Given the description of an element on the screen output the (x, y) to click on. 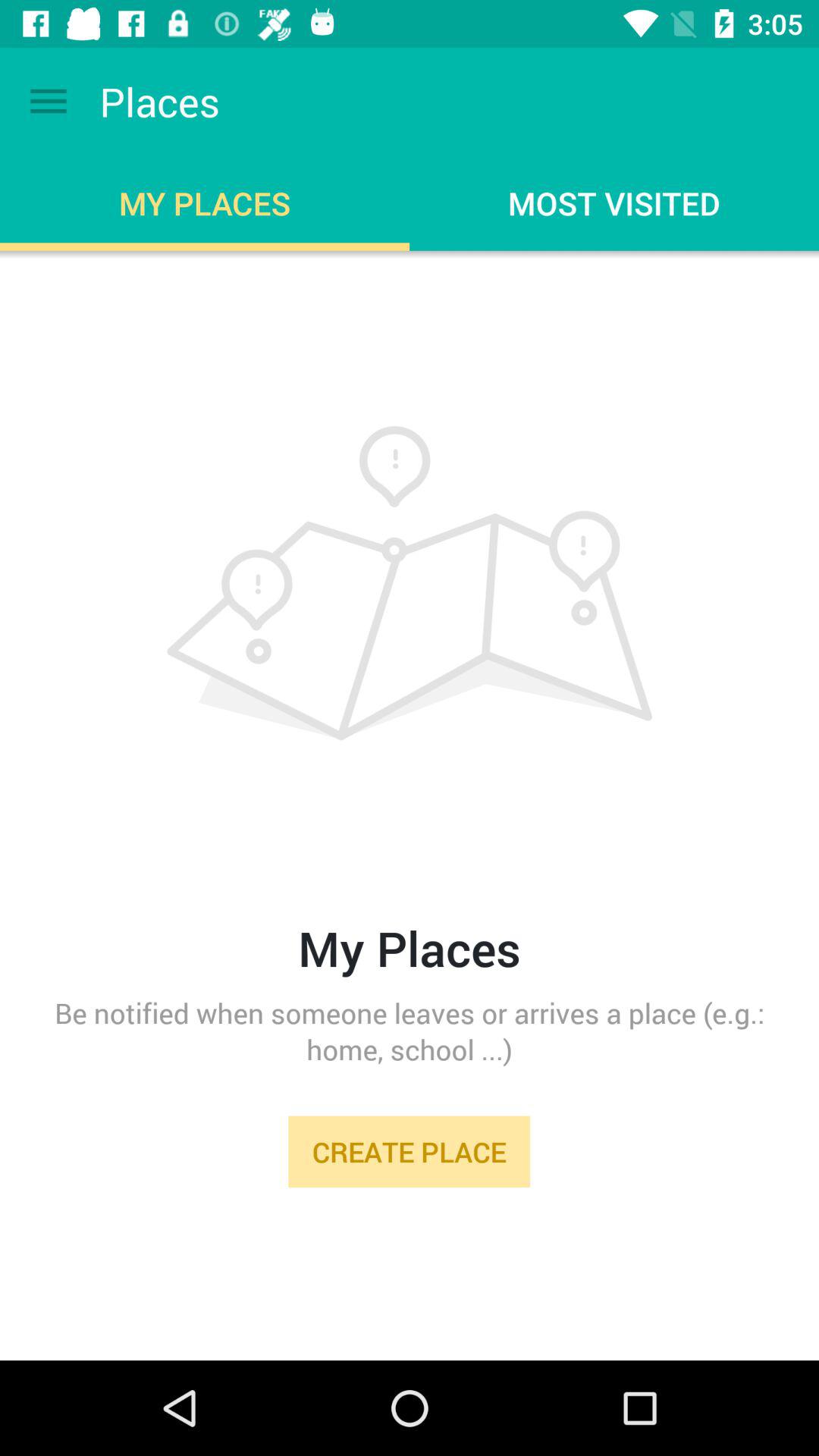
jump to the create place (409, 1151)
